Given the description of an element on the screen output the (x, y) to click on. 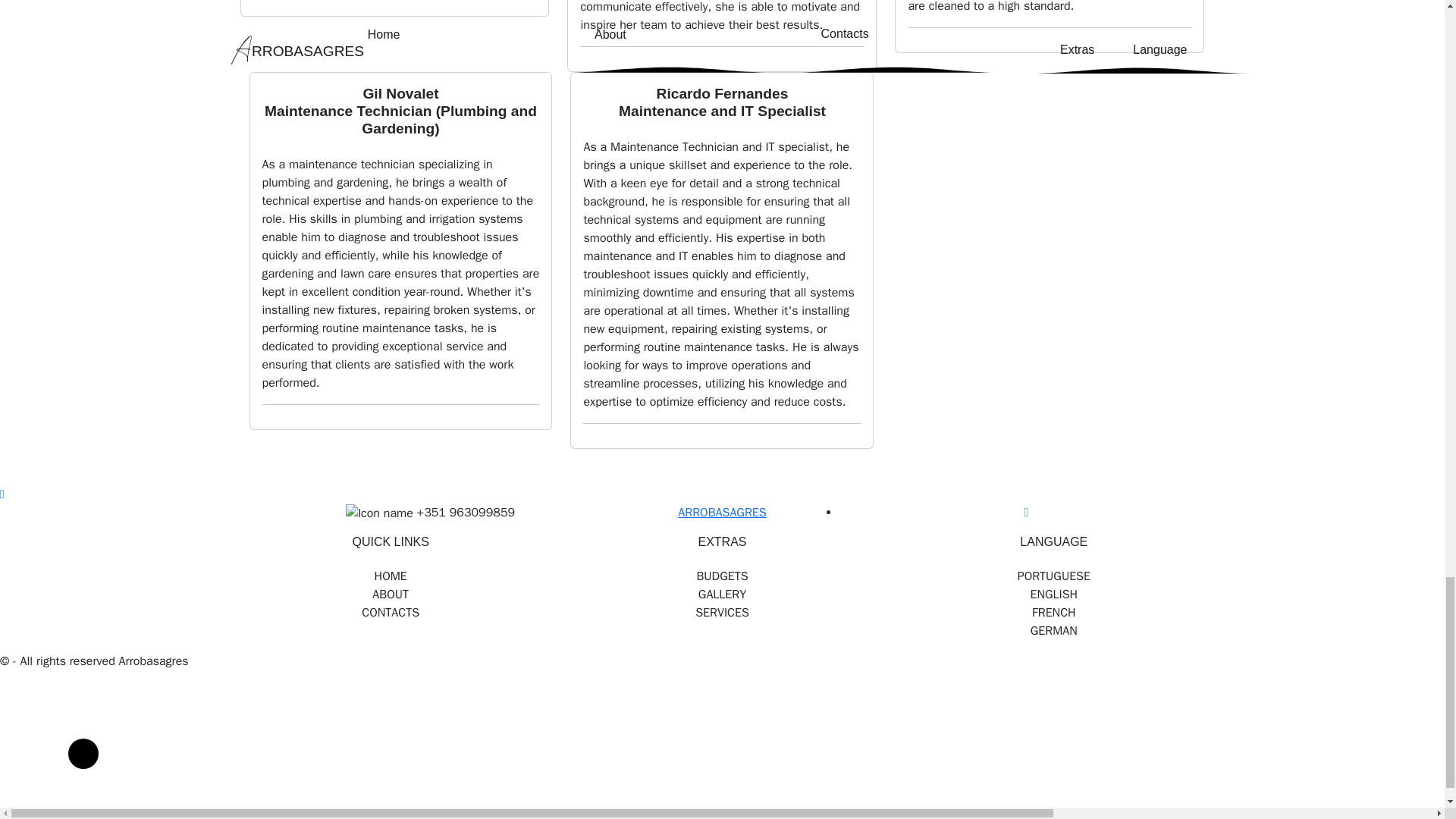
ABOUT (390, 594)
SERVICES (722, 612)
FRENCH (1052, 612)
CONTACTS (390, 612)
ARROBASAGRES (721, 512)
GERMAN (1052, 630)
BUDGETS (722, 576)
PORTUGUESE (1052, 576)
HOME (390, 576)
ENGLISH (1052, 594)
GALLERY (722, 594)
